Given the description of an element on the screen output the (x, y) to click on. 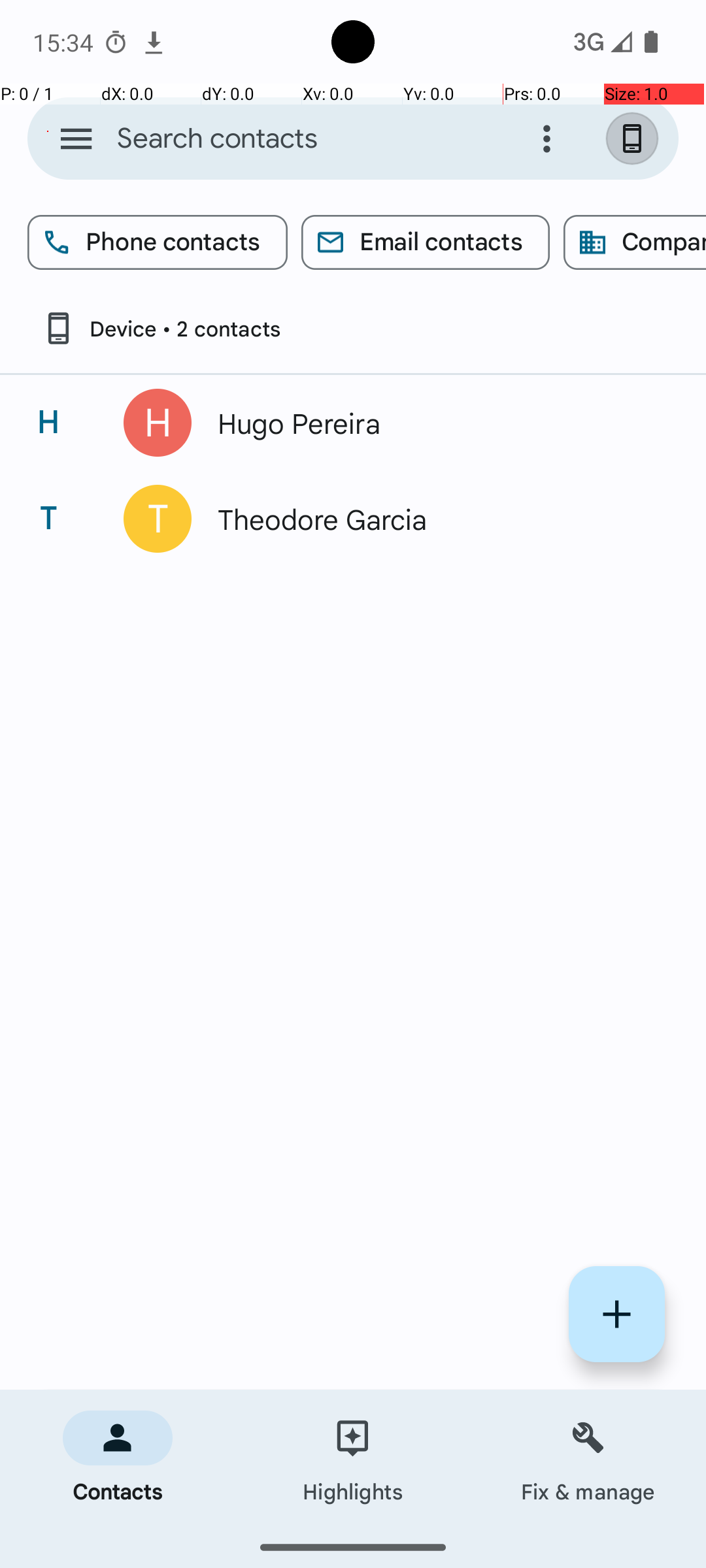
Device • 2 contacts Element type: android.widget.TextView (161, 328)
Hugo Pereira Element type: android.widget.TextView (434, 422)
Theodore Garcia Element type: android.widget.TextView (434, 518)
Chrome notification: m.youtube.com Element type: android.widget.ImageView (153, 41)
